Given the description of an element on the screen output the (x, y) to click on. 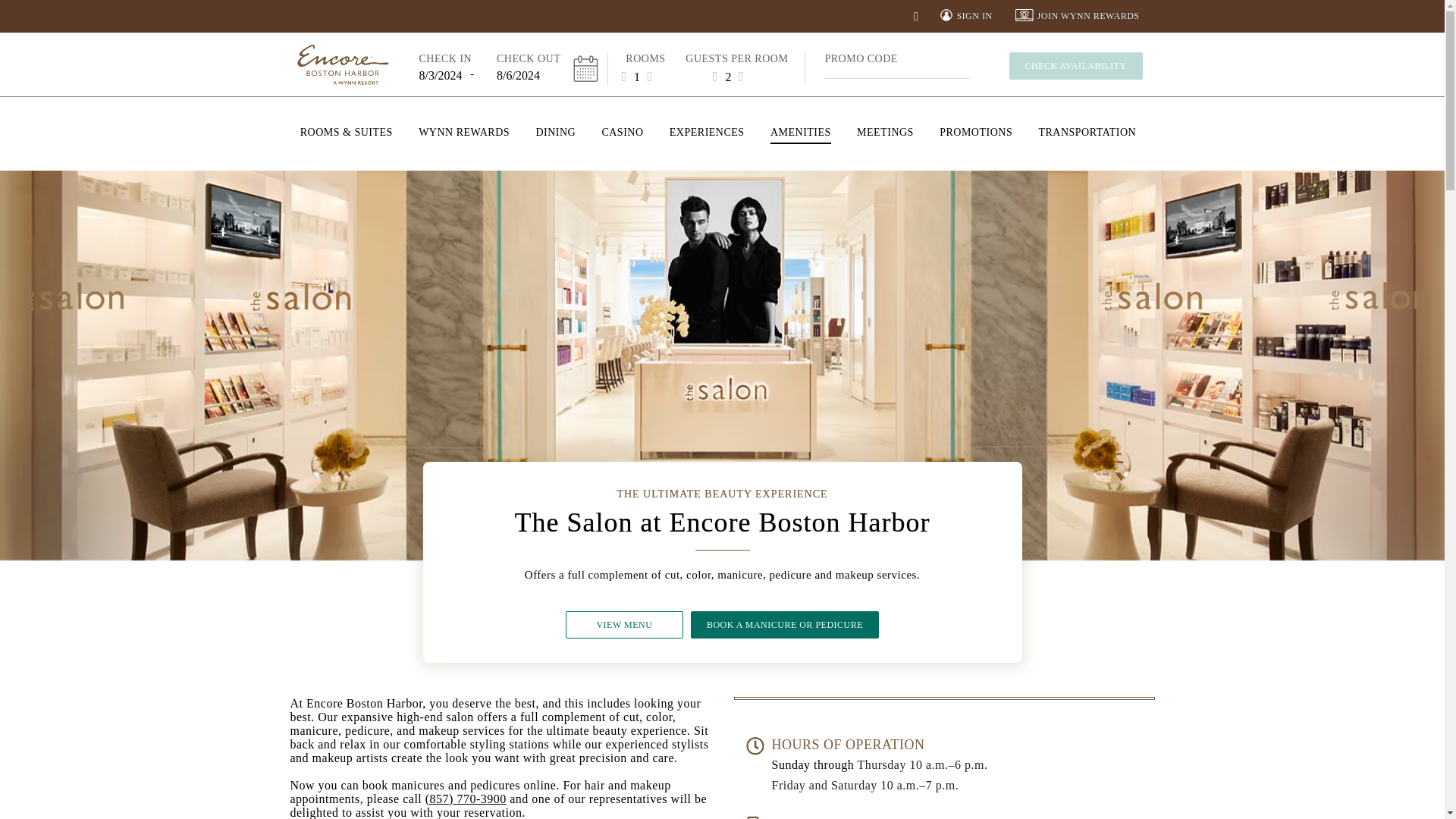
SIGN IN (965, 16)
1 (636, 75)
CHECK AVAILABILITY (1075, 65)
JOIN WYNN REWARDS (1077, 16)
2 (727, 75)
